Given the description of an element on the screen output the (x, y) to click on. 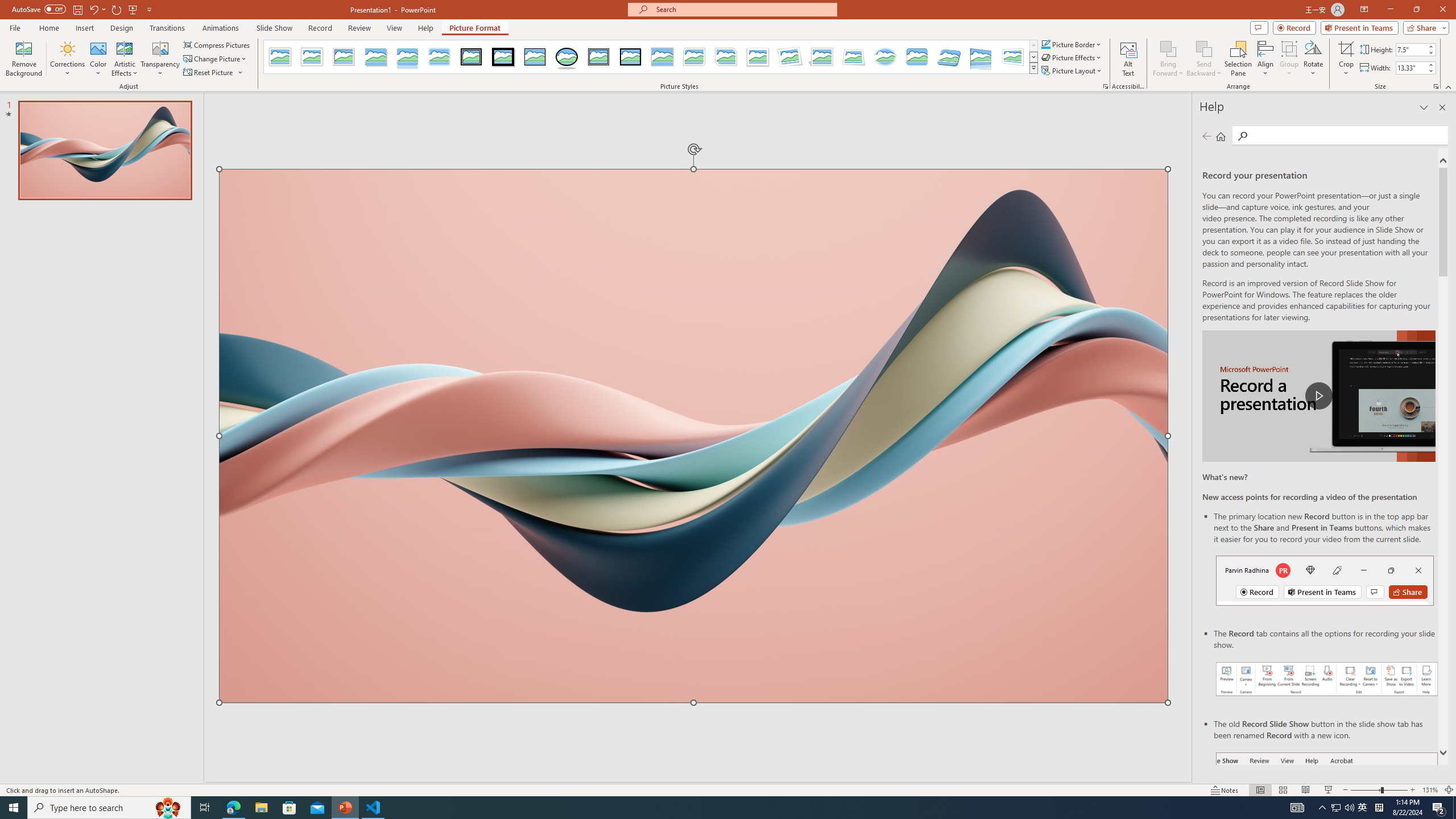
Artistic Effects (124, 58)
Animations (220, 28)
Zoom 131% (1430, 790)
Restore Down (1416, 9)
Normal (1260, 790)
Shape Width (1410, 67)
Bring Forward (1168, 48)
Crop (1345, 48)
Record (1294, 27)
Less (1430, 70)
Selection Pane... (1238, 58)
Picture Layout (1072, 69)
Rotated, White (790, 56)
Home (1220, 136)
Reflected Perspective Right (981, 56)
